Given the description of an element on the screen output the (x, y) to click on. 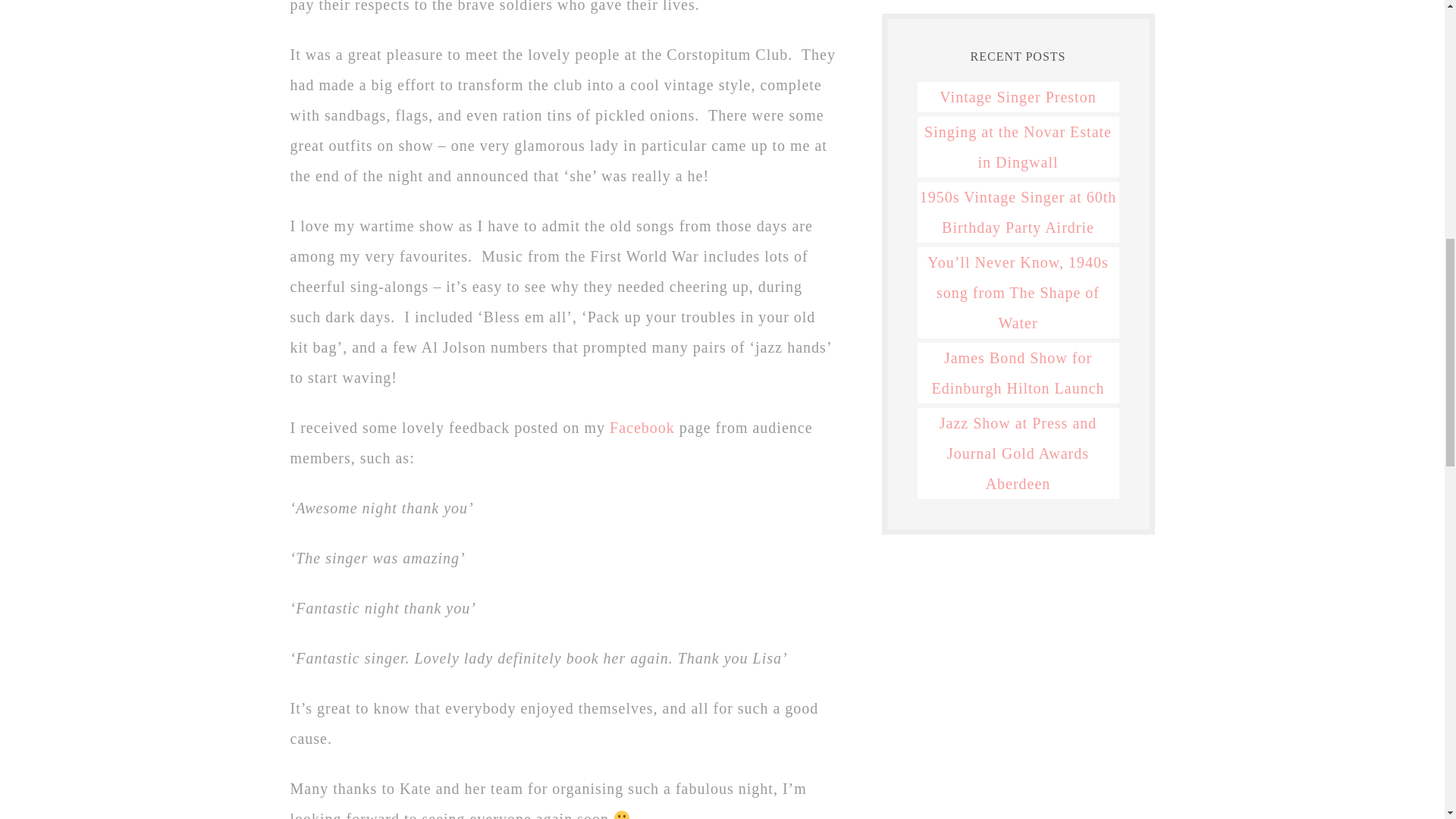
Facebook (642, 427)
1950s Vintage Singer at 60th Birthday Party Airdrie (1018, 212)
Vintage Singer Preston (1017, 96)
Singing at the Novar Estate in Dingwall (1018, 146)
Jazz Show at Press and Journal Gold Awards Aberdeen (1018, 453)
James Bond Show for Edinburgh Hilton Launch (1017, 372)
